Given the description of an element on the screen output the (x, y) to click on. 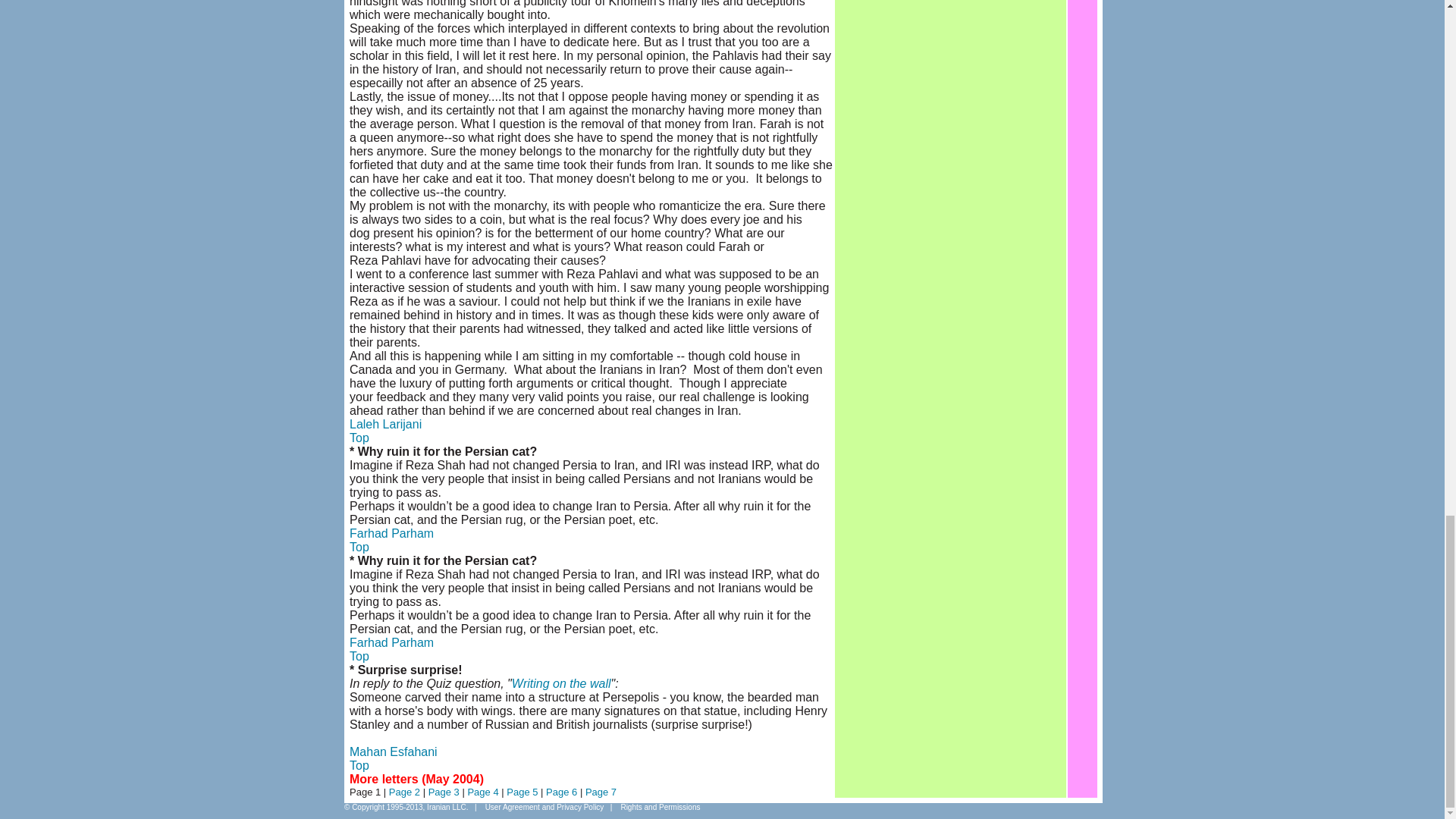
Top (359, 437)
Laleh Larijani (385, 423)
